Given the description of an element on the screen output the (x, y) to click on. 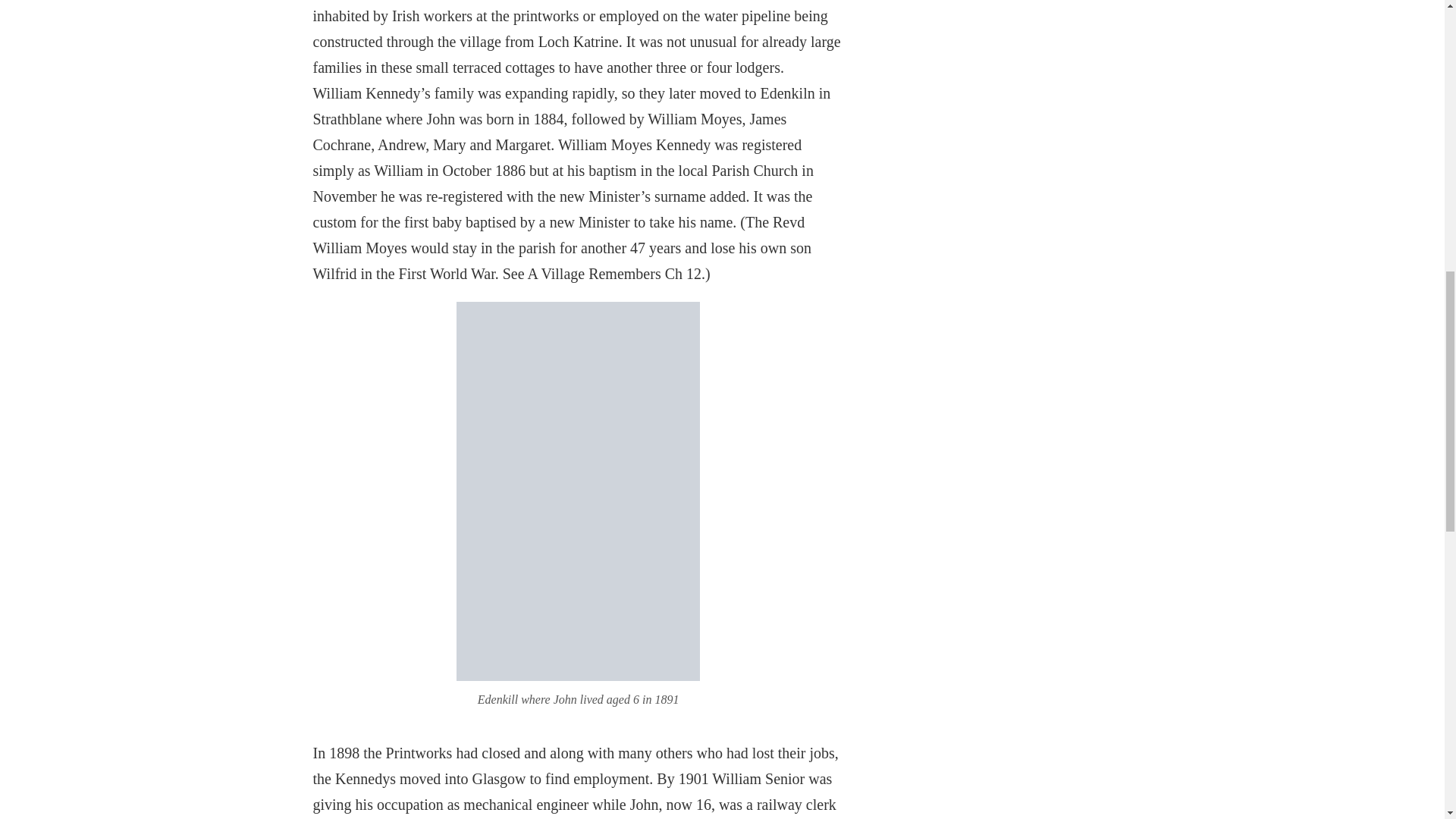
EdenkillStrathblane (578, 668)
